Given the description of an element on the screen output the (x, y) to click on. 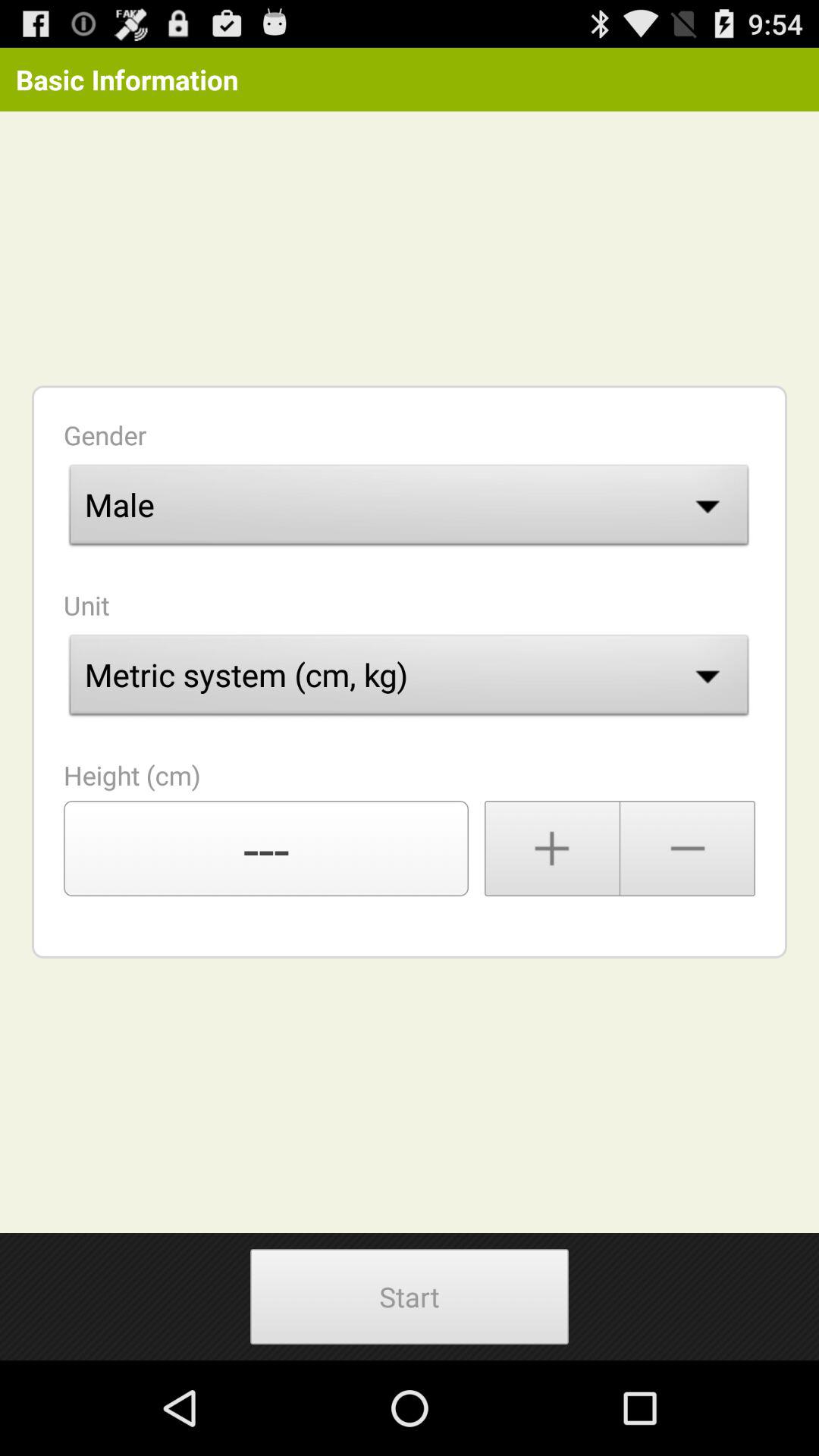
scroll to the start item (409, 1296)
